Given the description of an element on the screen output the (x, y) to click on. 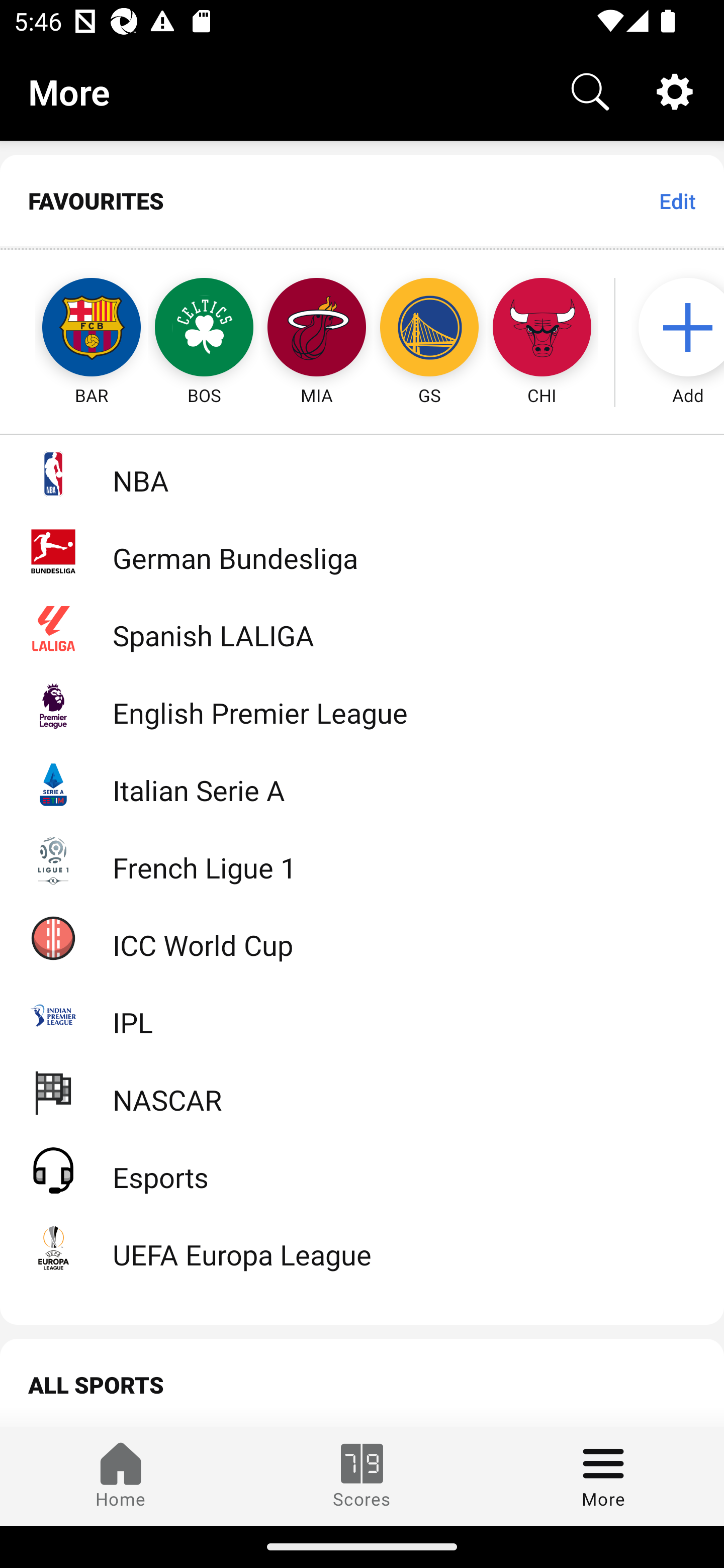
Search (590, 90)
Settings (674, 90)
Edit (676, 200)
BAR Barcelona (73, 328)
BOS Boston Celtics (203, 328)
MIA Miami Heat (316, 328)
GS Golden State Warriors (428, 328)
CHI Chicago Bulls (541, 328)
 Add (677, 328)
NBA (362, 473)
German Bundesliga (362, 550)
Spanish LALIGA (362, 627)
English Premier League (362, 705)
Italian Serie A (362, 782)
French Ligue 1 (362, 859)
ICC World Cup (362, 937)
IPL (362, 1014)
NASCAR (362, 1091)
Esports (362, 1169)
UEFA Europa League (362, 1246)
Home (120, 1475)
Scores (361, 1475)
